Given the description of an element on the screen output the (x, y) to click on. 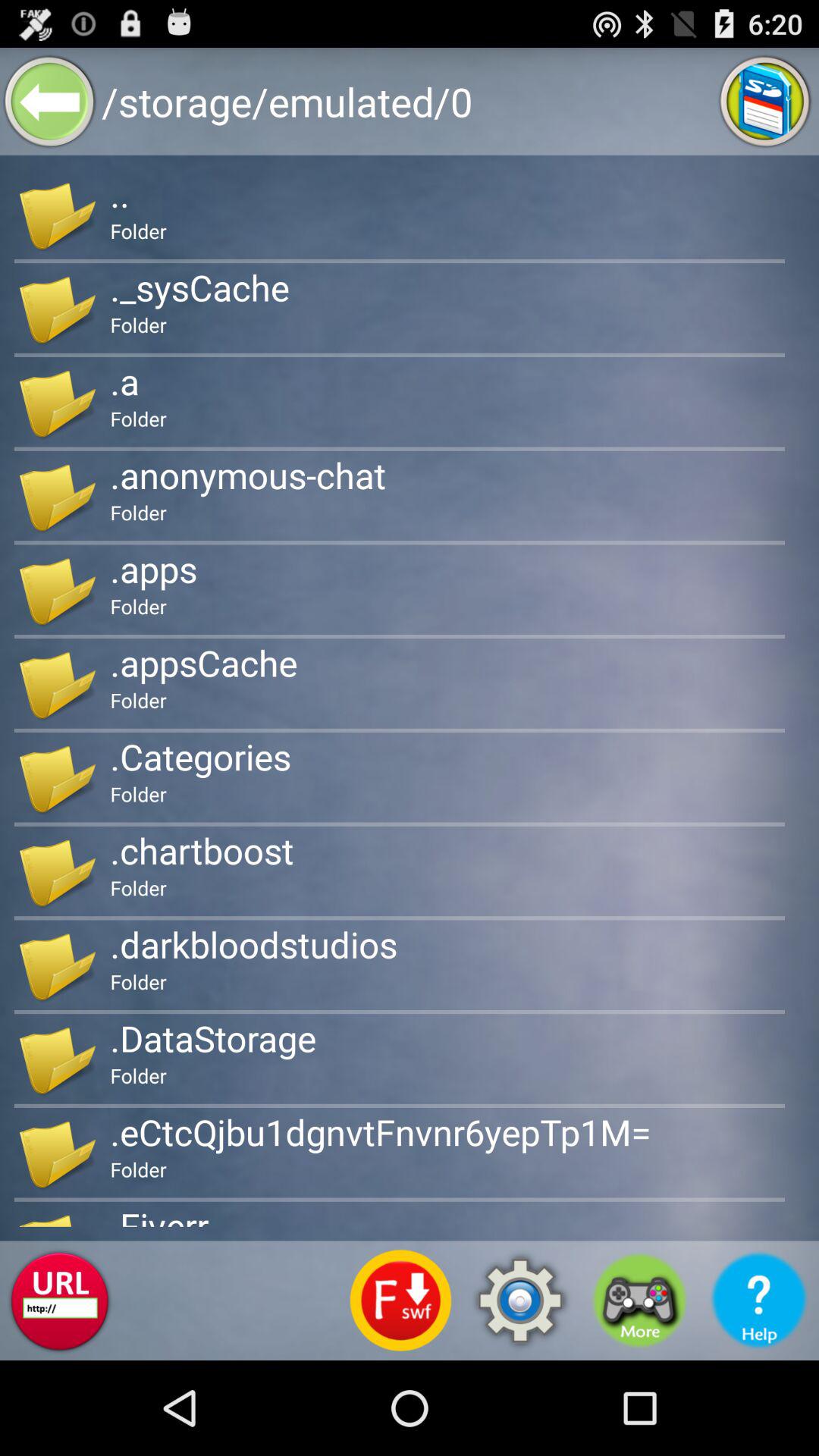
go to url (59, 1300)
